Given the description of an element on the screen output the (x, y) to click on. 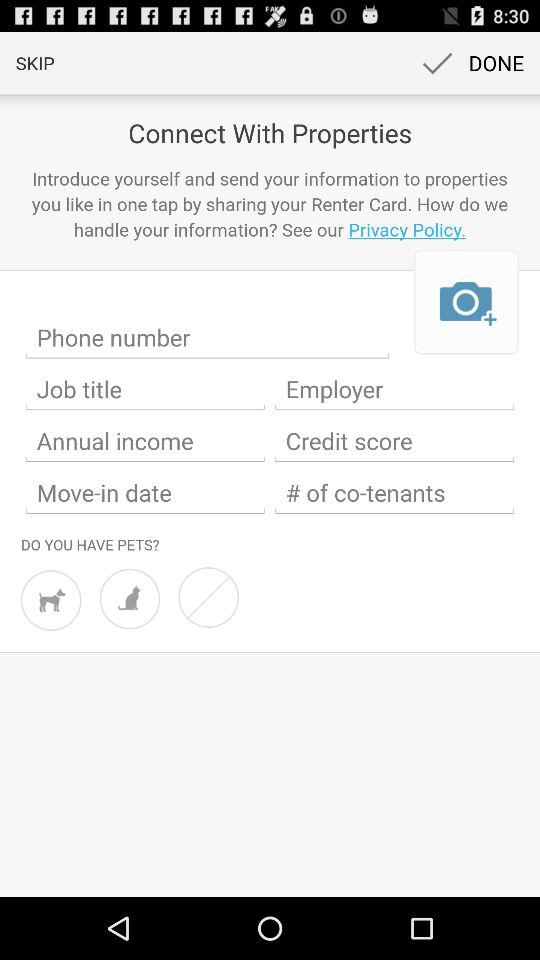
scroll to the introduce yourself and app (270, 203)
